Given the description of an element on the screen output the (x, y) to click on. 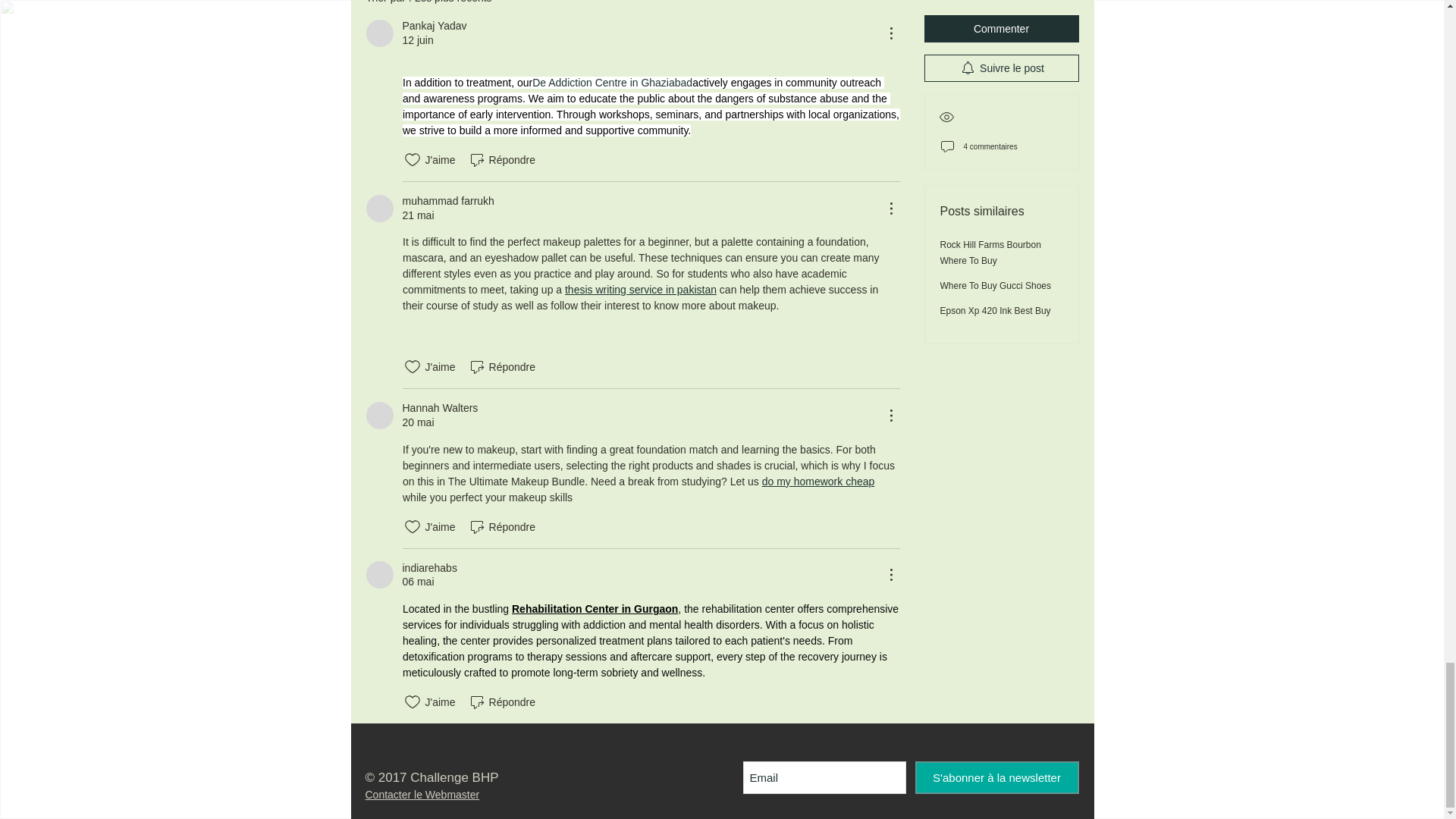
Pankaj Yadav (379, 32)
indiarehabs (379, 574)
do my homework cheap (818, 481)
De Addiction Centre in Ghaziabad (612, 82)
thesis writing service in pakistan (640, 289)
Hannah Walters (379, 415)
muhammad farrukh (379, 207)
